Given the description of an element on the screen output the (x, y) to click on. 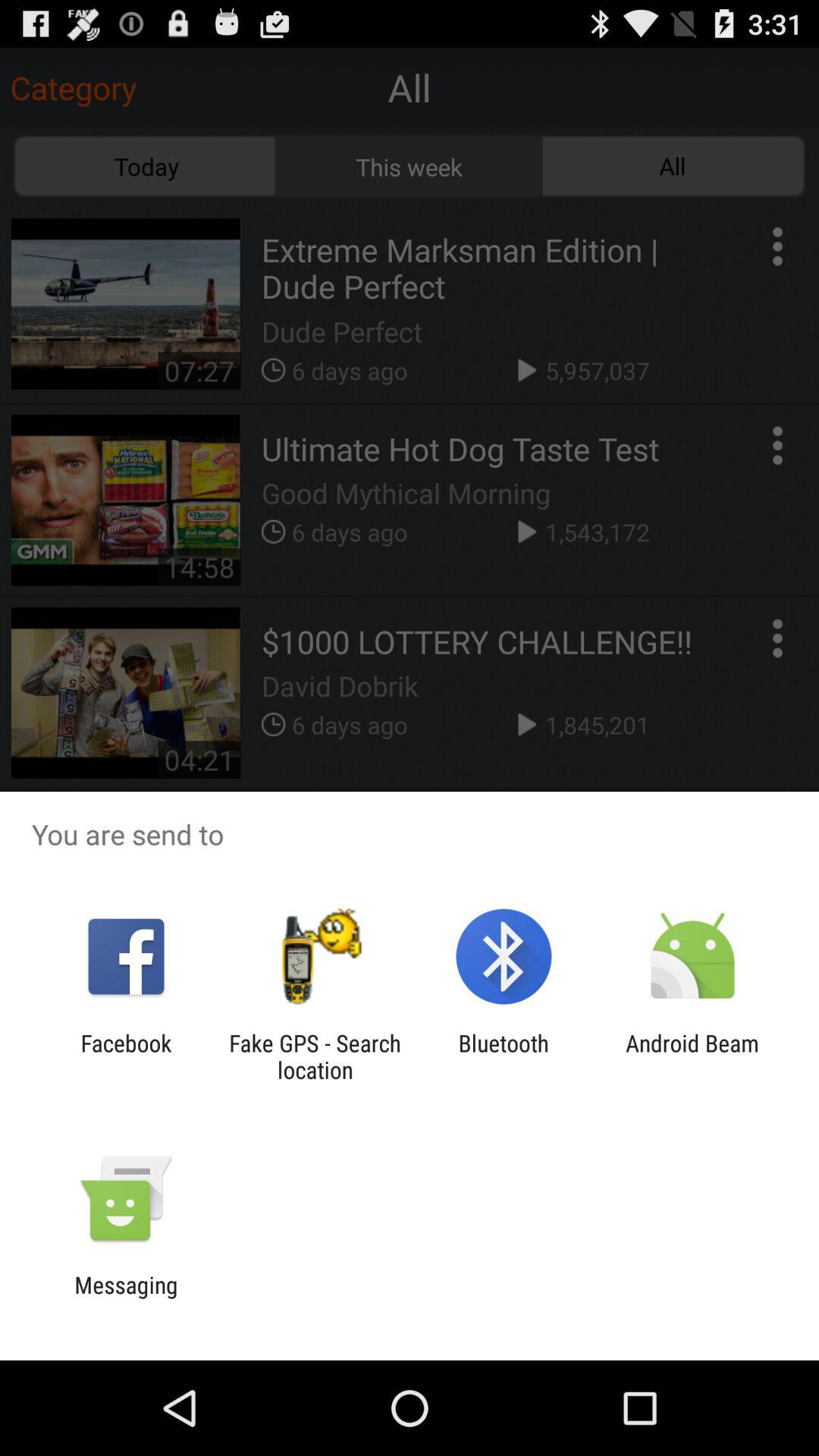
choose the item next to android beam icon (503, 1056)
